Given the description of an element on the screen output the (x, y) to click on. 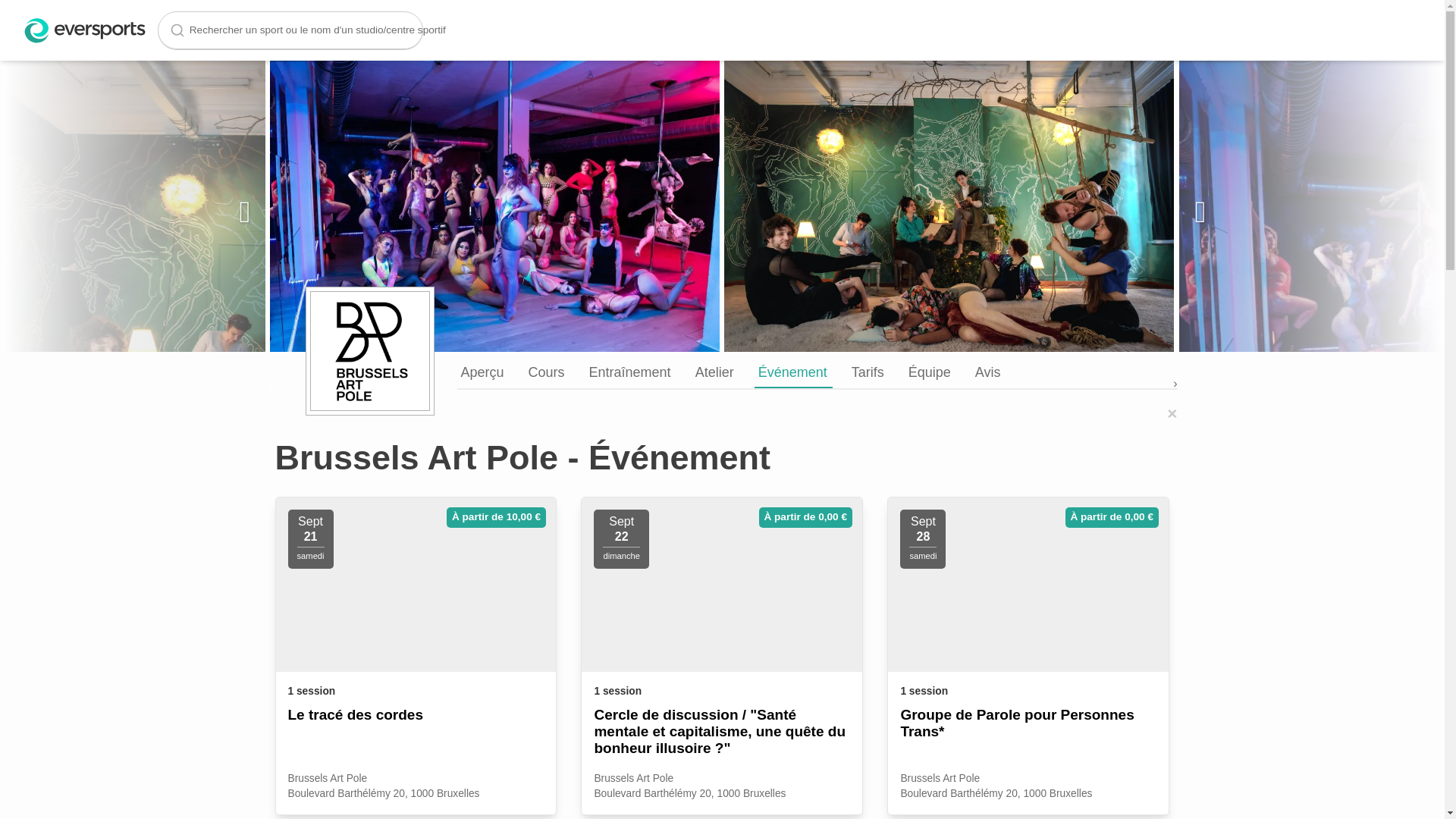
Atelier (714, 370)
Tarifs (867, 370)
Avis (987, 370)
Cours (546, 370)
Avis (987, 370)
